Given the description of an element on the screen output the (x, y) to click on. 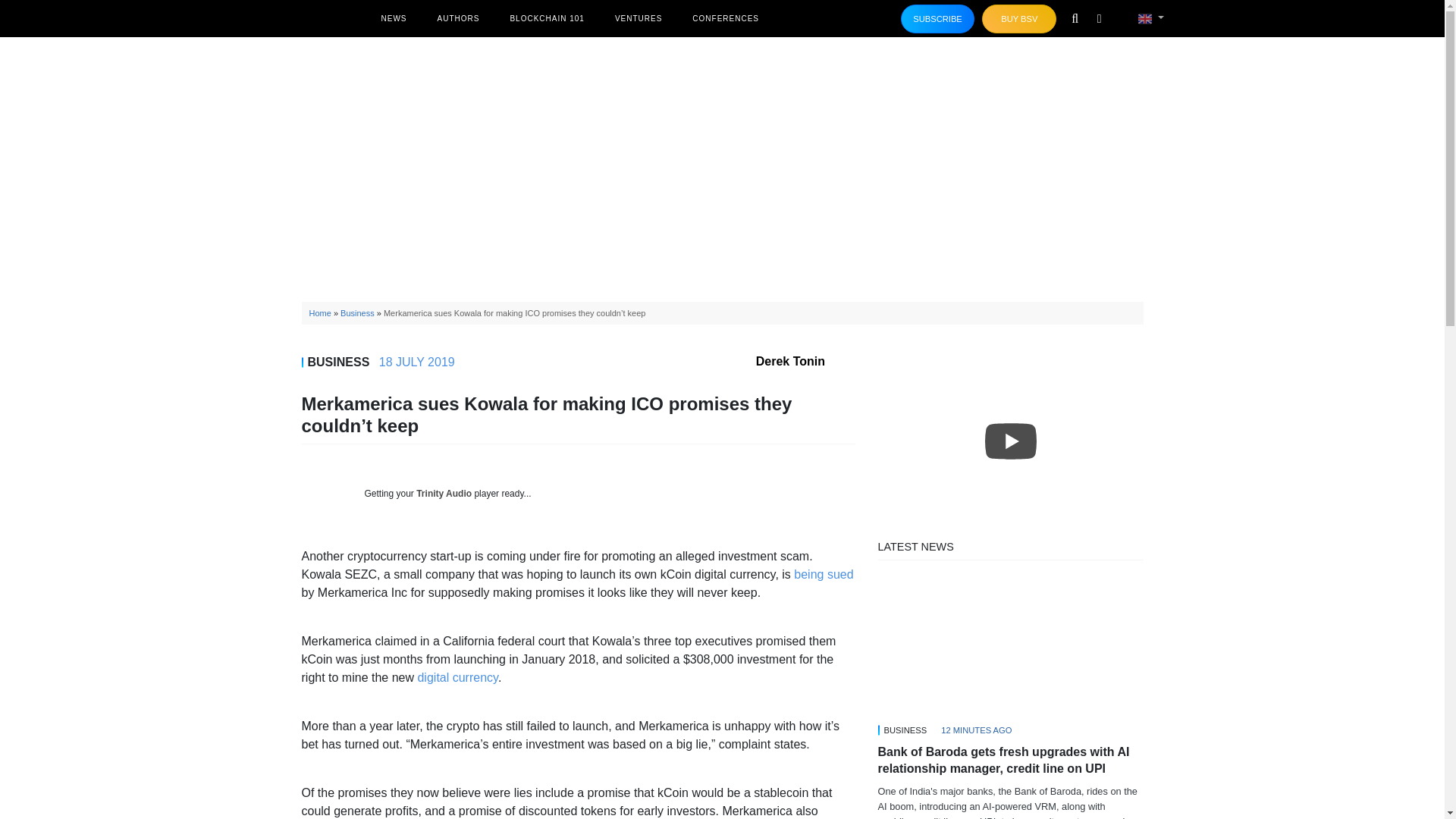
AUTHORS (457, 18)
Home (319, 312)
digital currency (456, 676)
CONFERENCES (725, 18)
Derek Tonin (805, 360)
Business (357, 312)
BLOCKCHAIN 101 (546, 18)
NEWS (392, 18)
Never miss an update again! Subscribe to Newsletter! (938, 18)
Trinity Audio (443, 493)
BUY BSV (1019, 18)
being sued (823, 574)
VENTURES (638, 18)
